Given the description of an element on the screen output the (x, y) to click on. 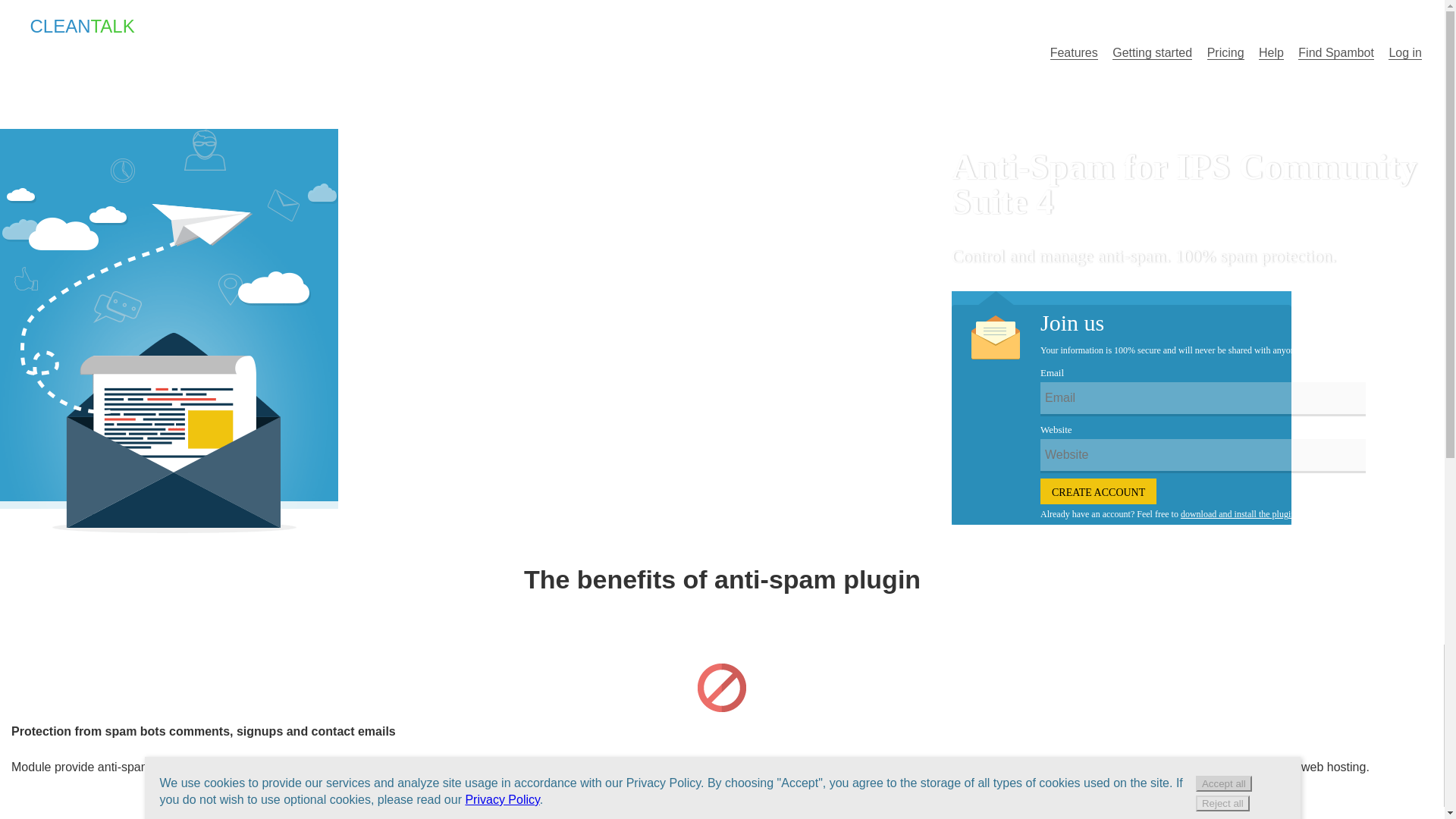
Reject all (1222, 803)
Getting started (1152, 52)
CREATE ACCOUNT (1098, 491)
download and install the plugin (1237, 513)
Privacy Policy (501, 799)
Accept all (1223, 783)
Log in (1405, 52)
Features (1073, 52)
Pricing (1225, 52)
CLEANTALK (79, 24)
